Given the description of an element on the screen output the (x, y) to click on. 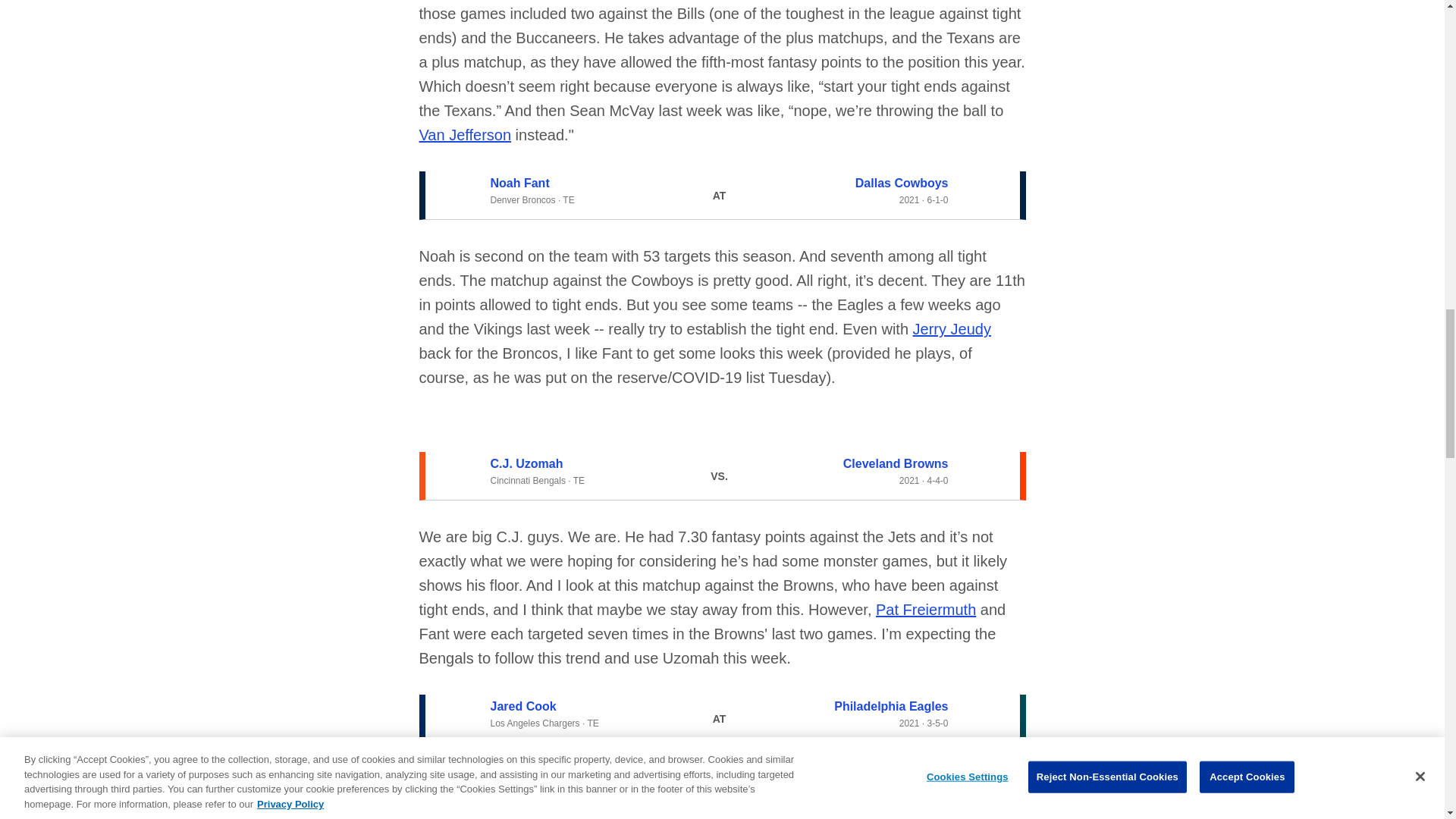
Philadelphia Eagles (890, 706)
Noah Fant (518, 182)
Van Jefferson (465, 134)
Cleveland Browns (896, 463)
C.J. Uzomah (525, 463)
Noah Fant (518, 182)
Pat Freiermuth (925, 609)
Dallas Cowboys (902, 182)
Jared Cook (522, 706)
Jerry Jeudy (951, 329)
